Given the description of an element on the screen output the (x, y) to click on. 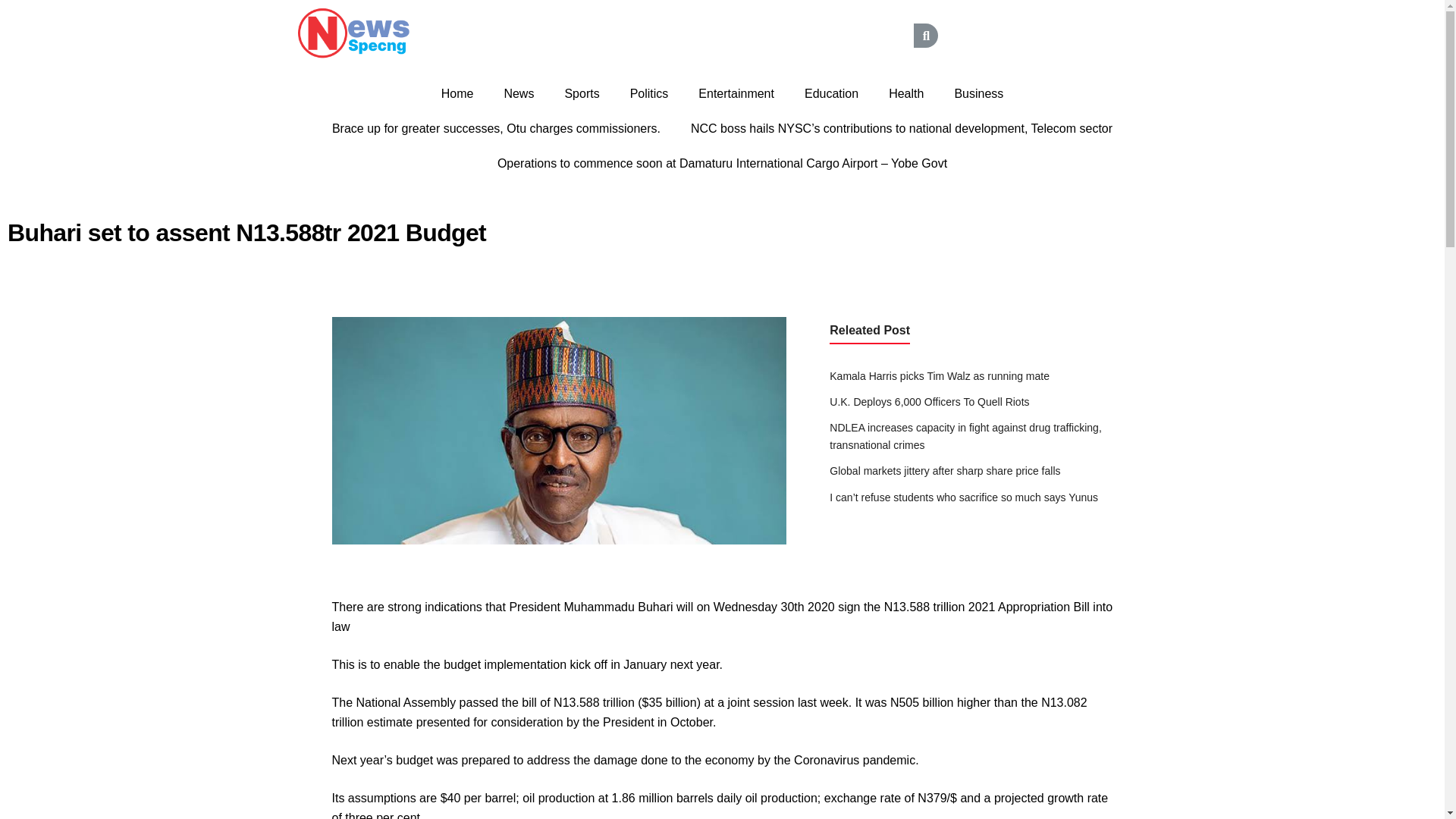
Business (978, 93)
Sports (581, 93)
Entertainment (735, 93)
Education (831, 93)
U.K. Deploys 6,000 Officers To Quell Riots (929, 401)
Brace up for greater successes, Otu charges commissioners. (496, 128)
Search (799, 35)
Home (457, 93)
Kamala Harris picks Tim Walz as running mate (939, 376)
Search (925, 35)
